Given the description of an element on the screen output the (x, y) to click on. 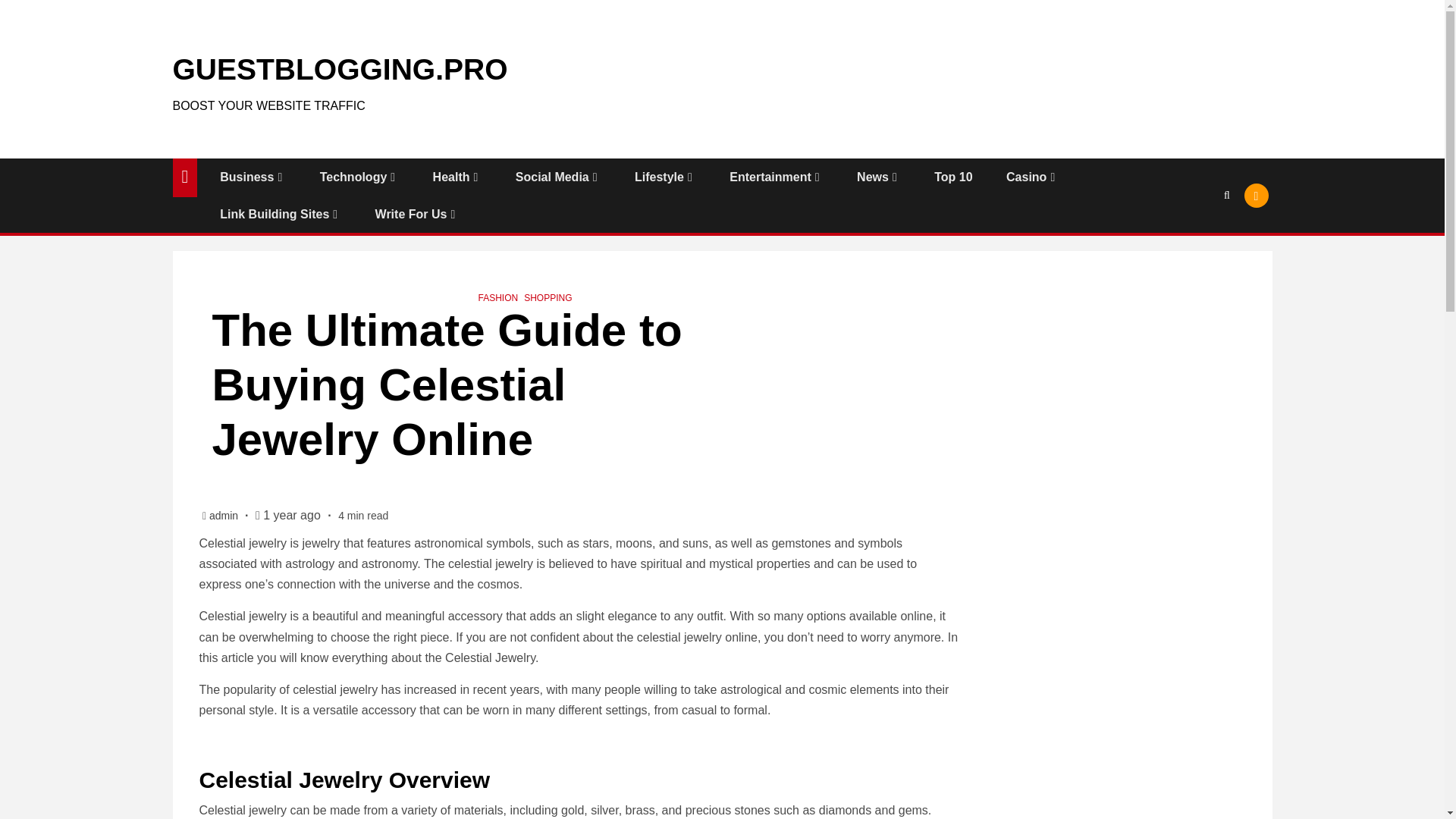
Business (252, 176)
Entertainment (775, 176)
Technology (359, 176)
Lifestyle (664, 176)
Search (1226, 194)
News (879, 176)
Social Media (558, 176)
GUESTBLOGGING.PRO (340, 69)
Health (456, 176)
